Given the description of an element on the screen output the (x, y) to click on. 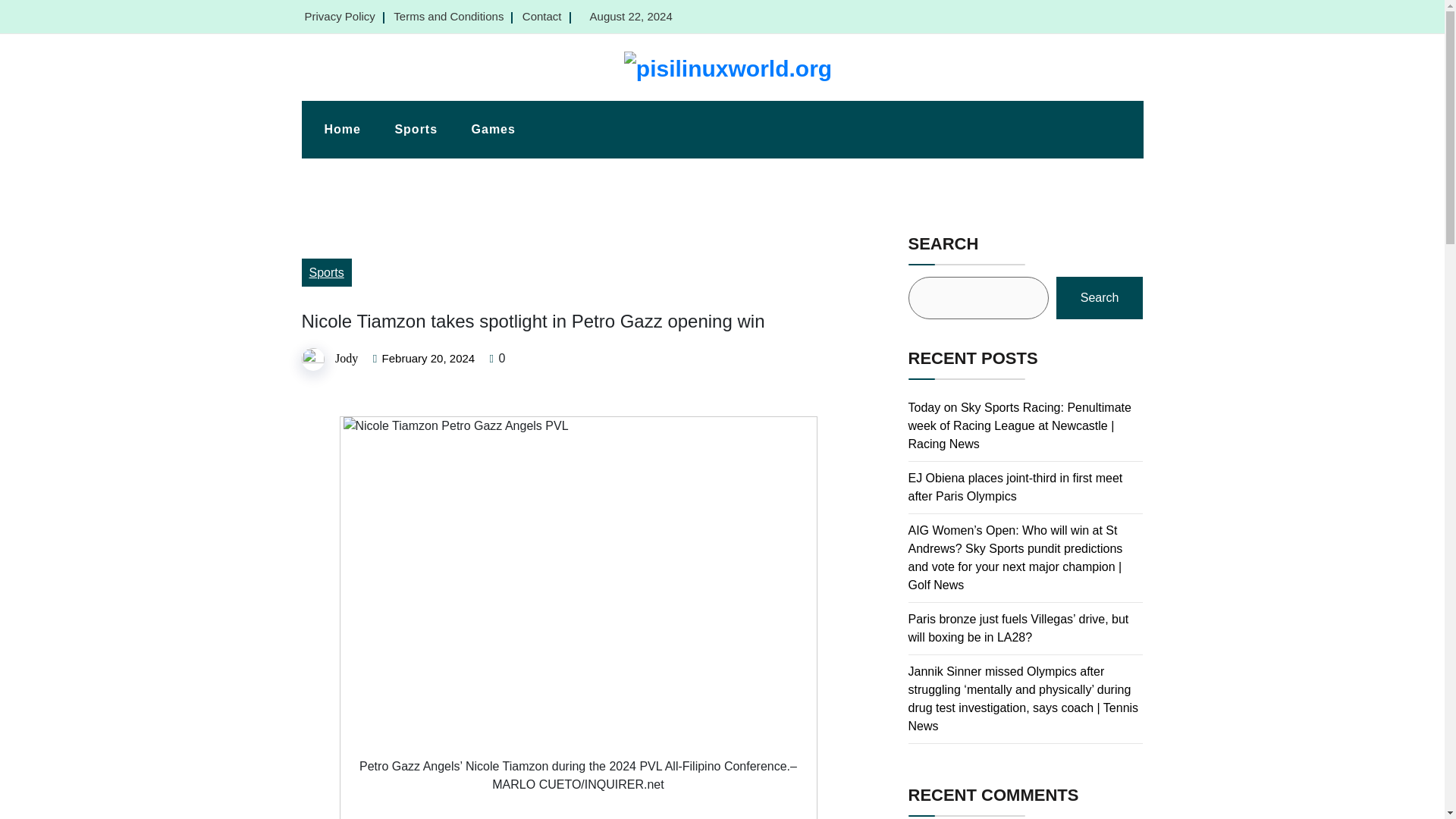
February 20, 2024 (428, 358)
pisilinuxworld.org (379, 92)
Sports (326, 272)
Home (341, 129)
Games (494, 129)
Jody (346, 358)
Privacy Policy (339, 15)
Contact (542, 15)
pisilinuxworld.org (379, 92)
Sports (415, 129)
